Given the description of an element on the screen output the (x, y) to click on. 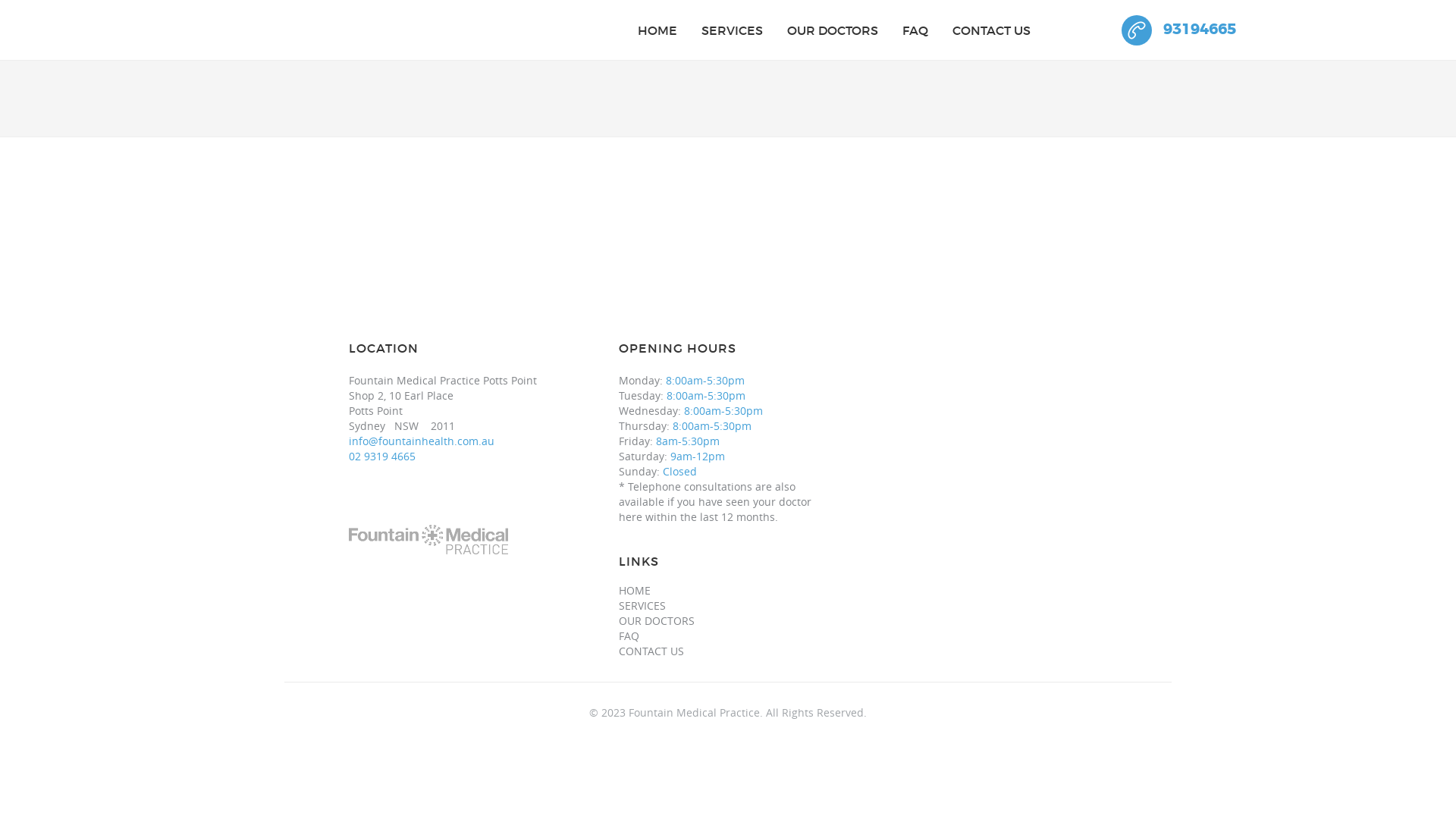
FAQ Element type: text (628, 635)
SERVICES Element type: text (641, 605)
93194665 Element type: text (1178, 30)
CONTACT US Element type: text (991, 30)
info@fountainhealth.com.au Element type: text (421, 440)
SERVICES Element type: text (731, 30)
02 9319 4665 Element type: text (381, 455)
OUR DOCTORS Element type: text (656, 620)
CONTACT US Element type: text (651, 651)
HOME Element type: text (634, 590)
OUR DOCTORS Element type: text (832, 30)
FAQ Element type: text (915, 30)
HOME Element type: text (657, 30)
